Given the description of an element on the screen output the (x, y) to click on. 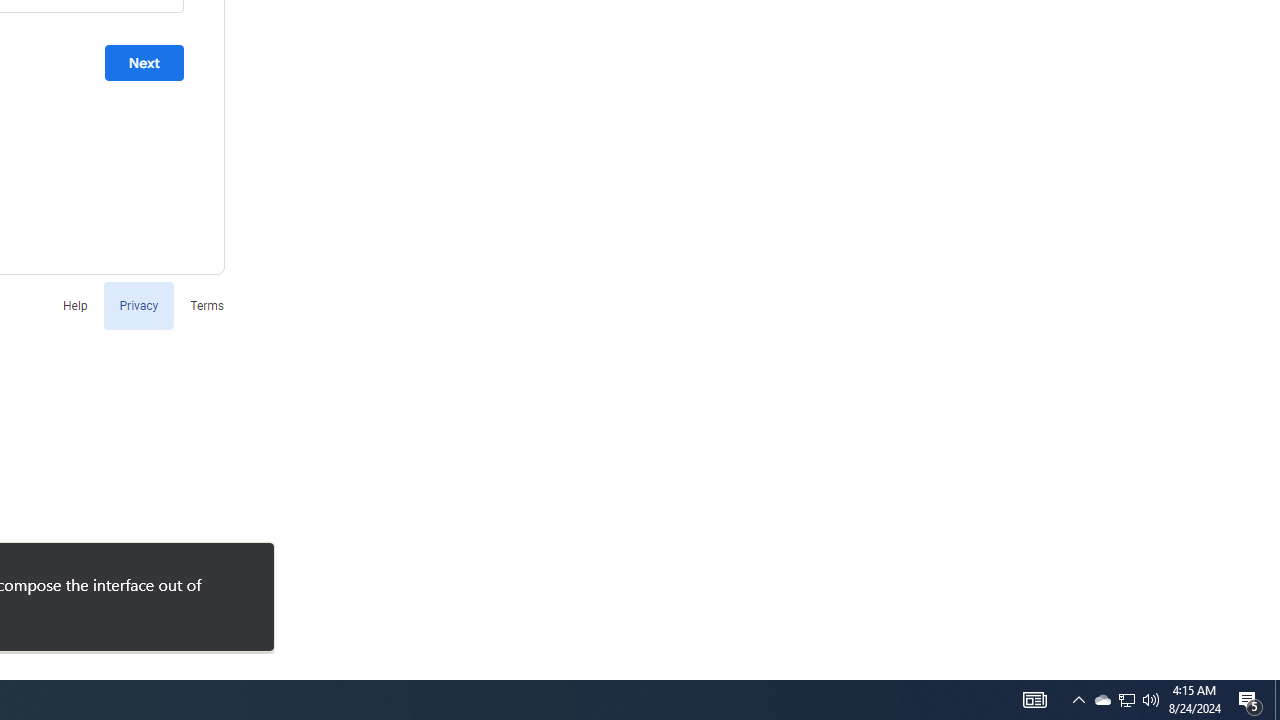
Next (143, 63)
Privacy (138, 304)
Help (74, 304)
